Given the description of an element on the screen output the (x, y) to click on. 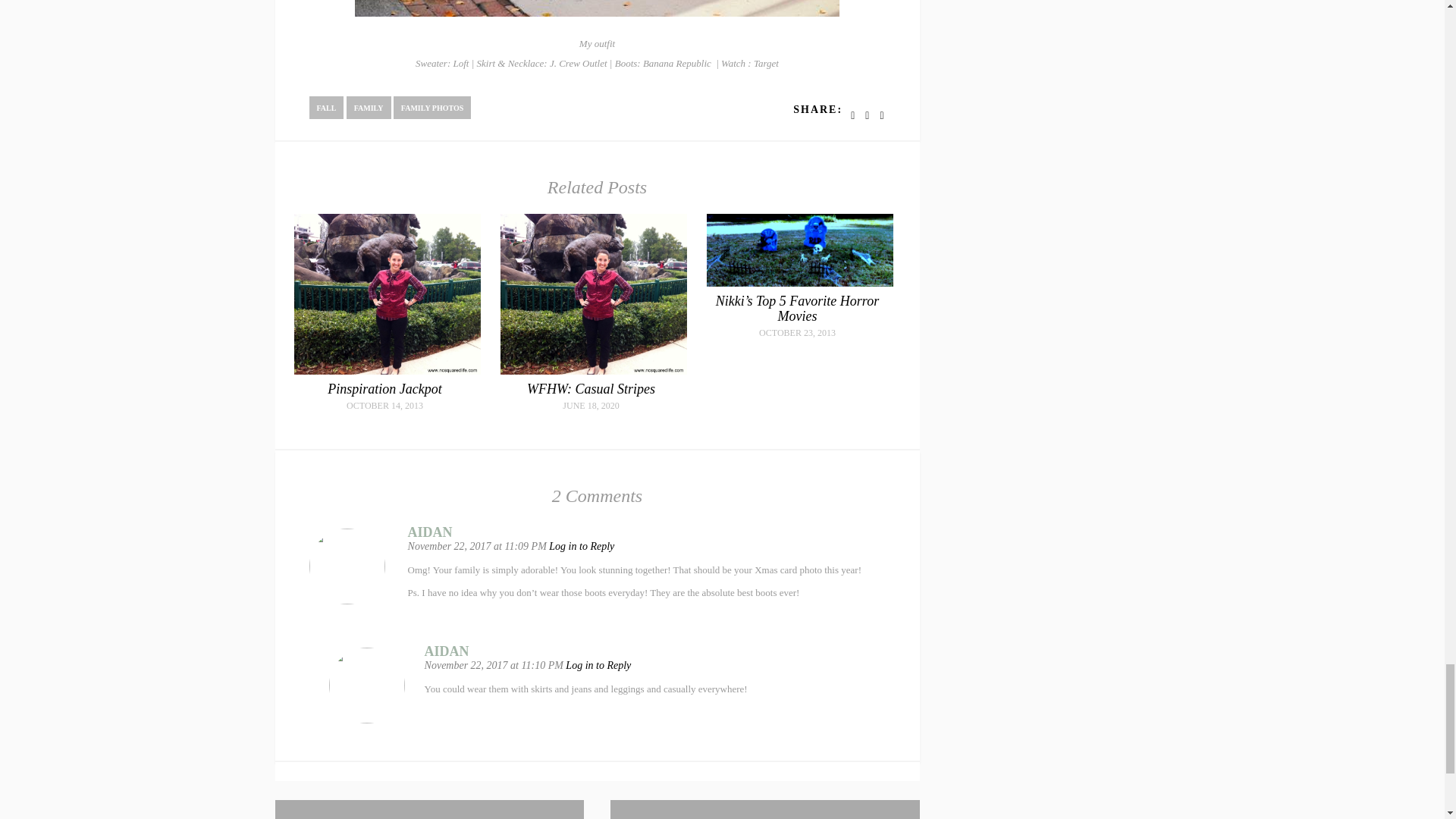
Permanent (593, 370)
Permanent (591, 388)
Permanent (799, 283)
Permanent (387, 370)
Permanent (797, 308)
Permanent (384, 388)
